Given the description of an element on the screen output the (x, y) to click on. 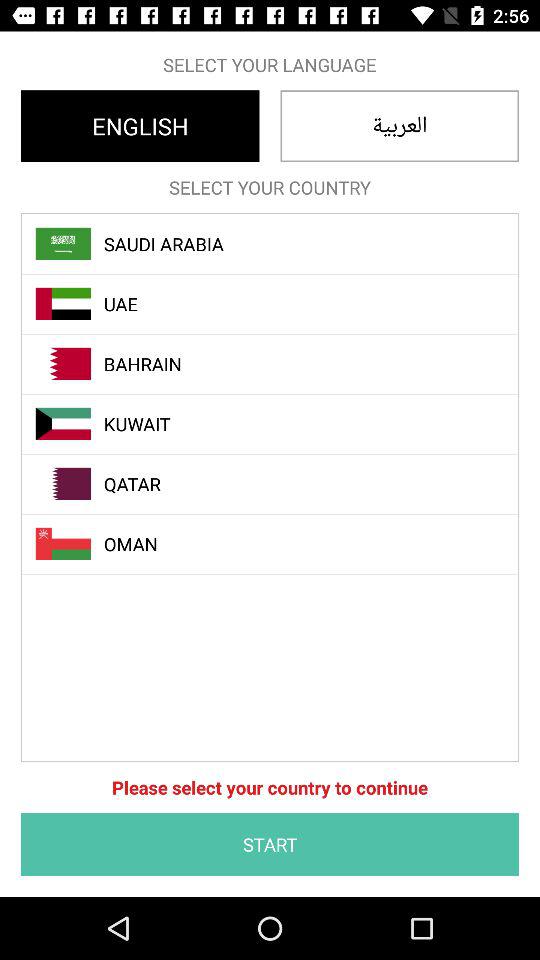
open the saudi arabia icon (281, 243)
